Given the description of an element on the screen output the (x, y) to click on. 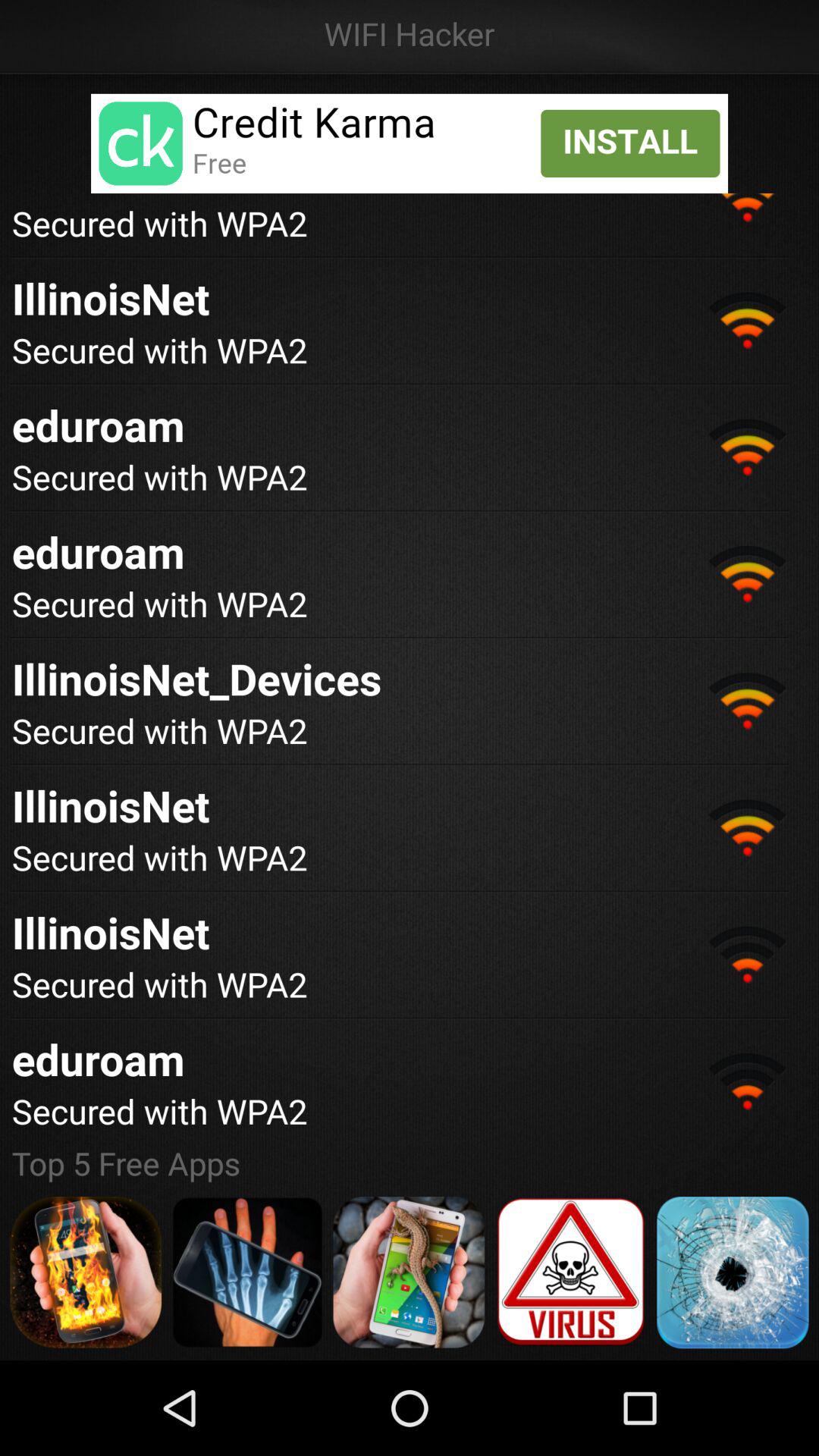
danger button (570, 1272)
